Given the description of an element on the screen output the (x, y) to click on. 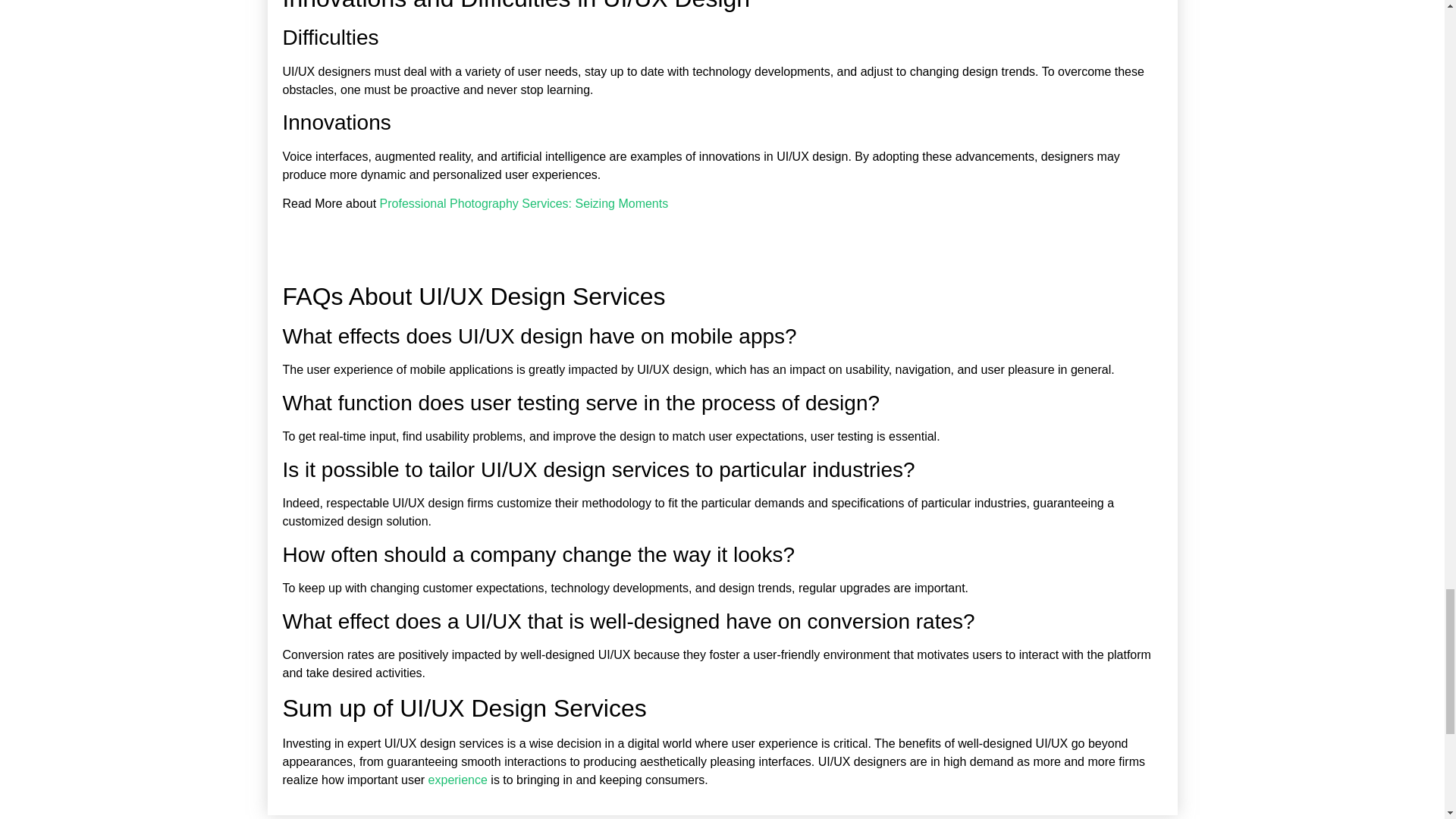
experience (457, 779)
Professional Photography Services: Seizing Moments (524, 203)
